Given the description of an element on the screen output the (x, y) to click on. 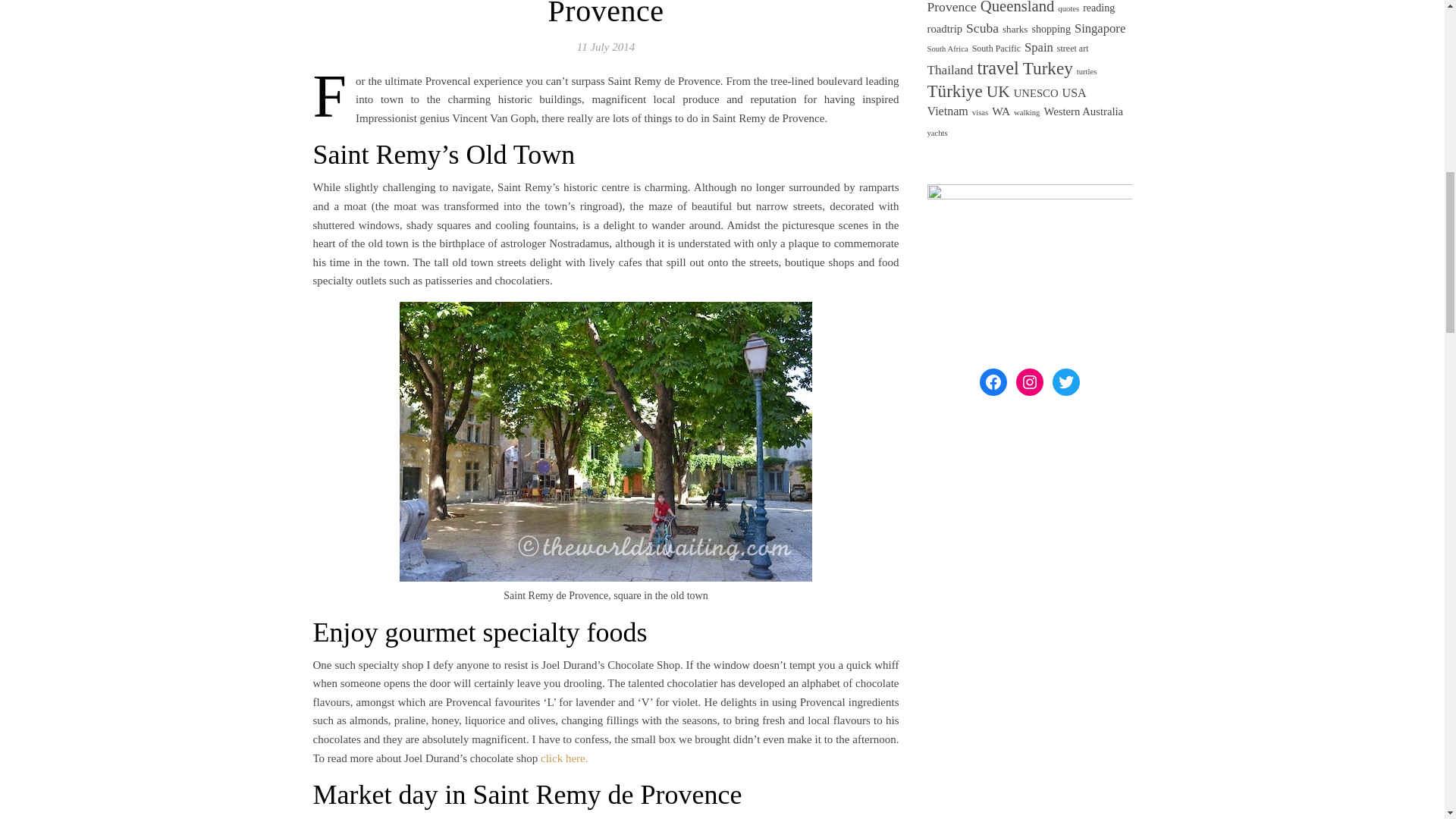
click here. (564, 758)
